Given the description of an element on the screen output the (x, y) to click on. 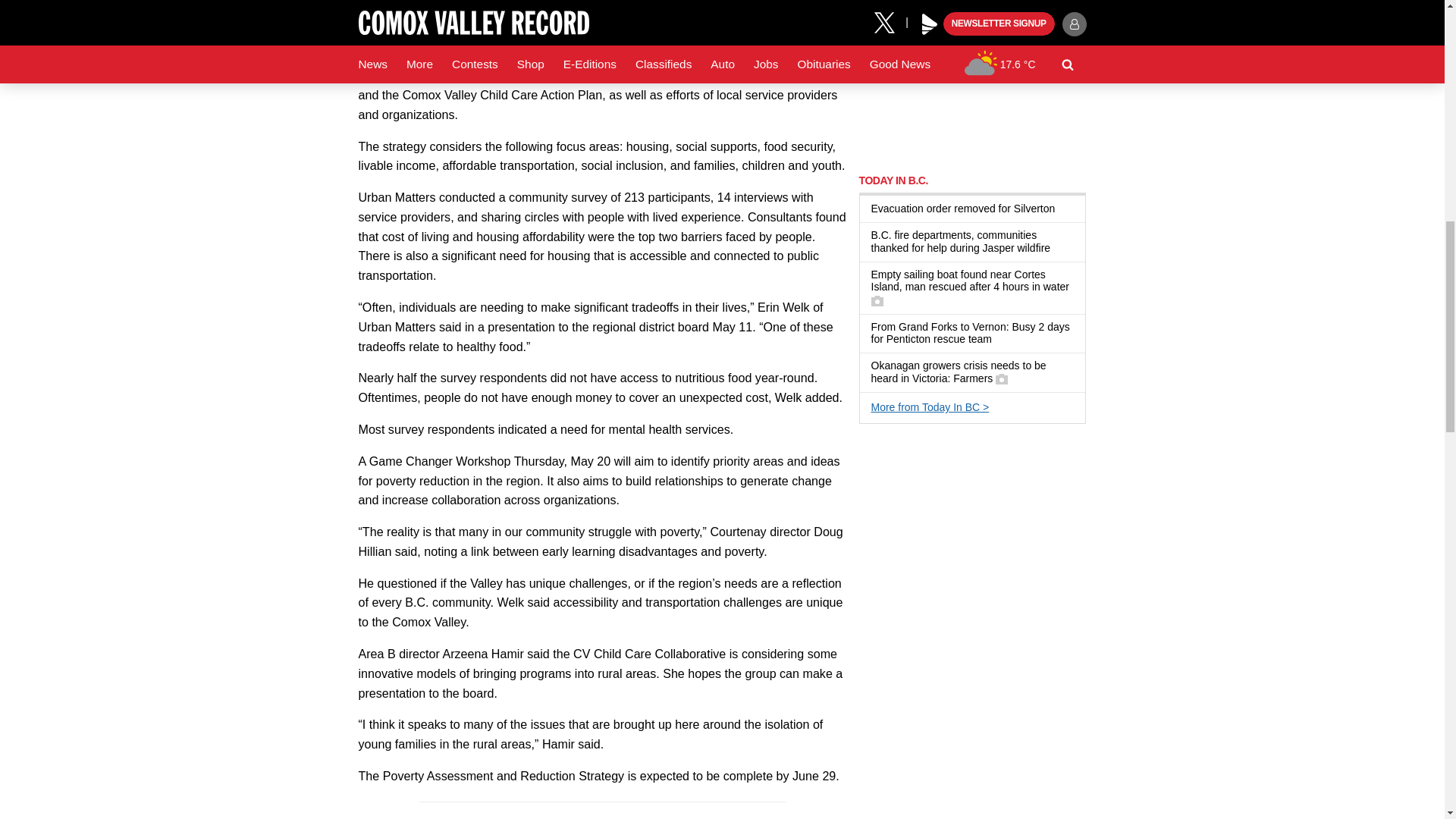
Has a gallery (876, 300)
Has a gallery (1001, 378)
